Given the description of an element on the screen output the (x, y) to click on. 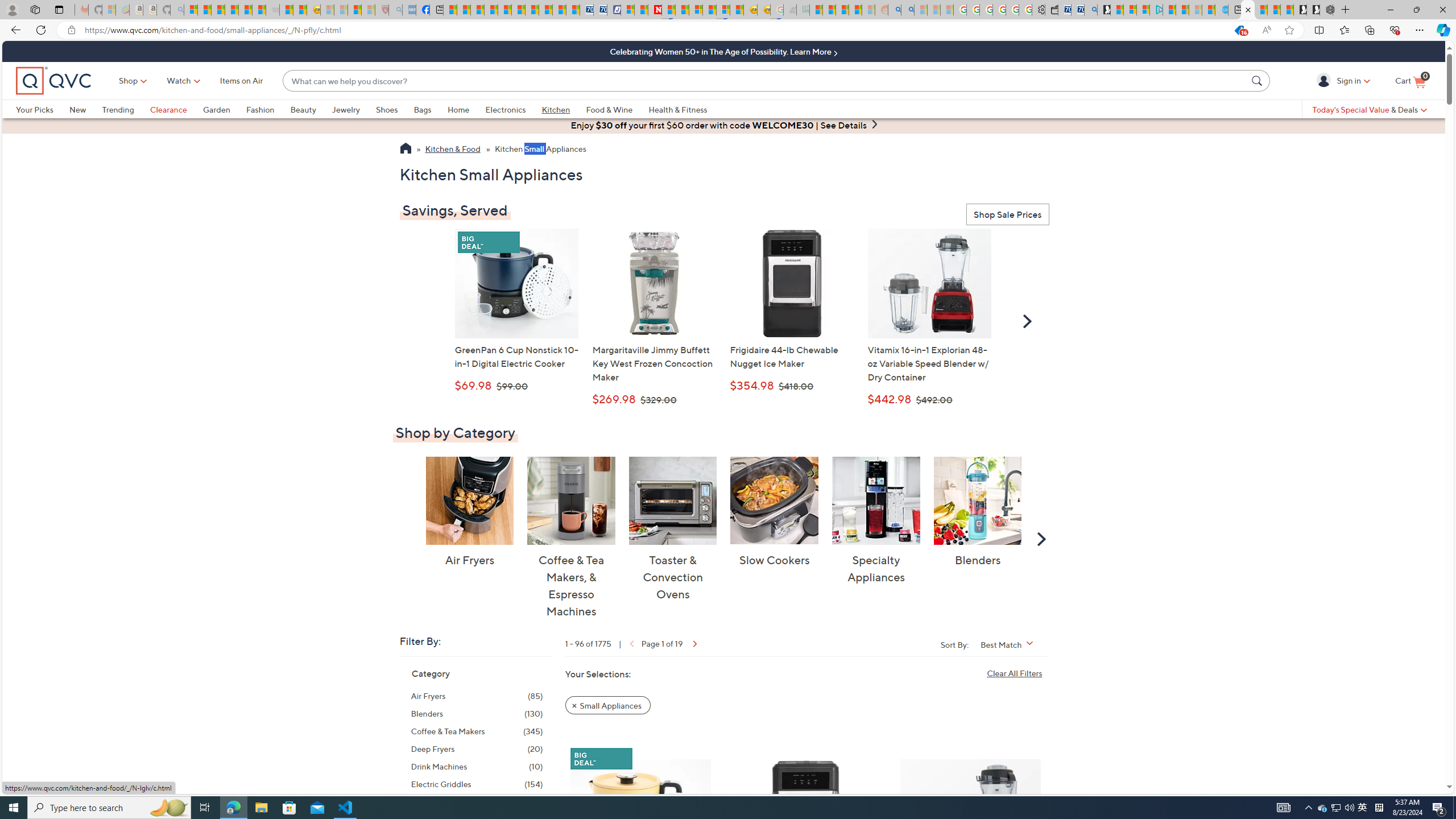
Slow Cookers Slow Cookers (774, 512)
Today's Special Value & Deals (1369, 109)
Return to QVC Homepage (405, 149)
